Given the description of an element on the screen output the (x, y) to click on. 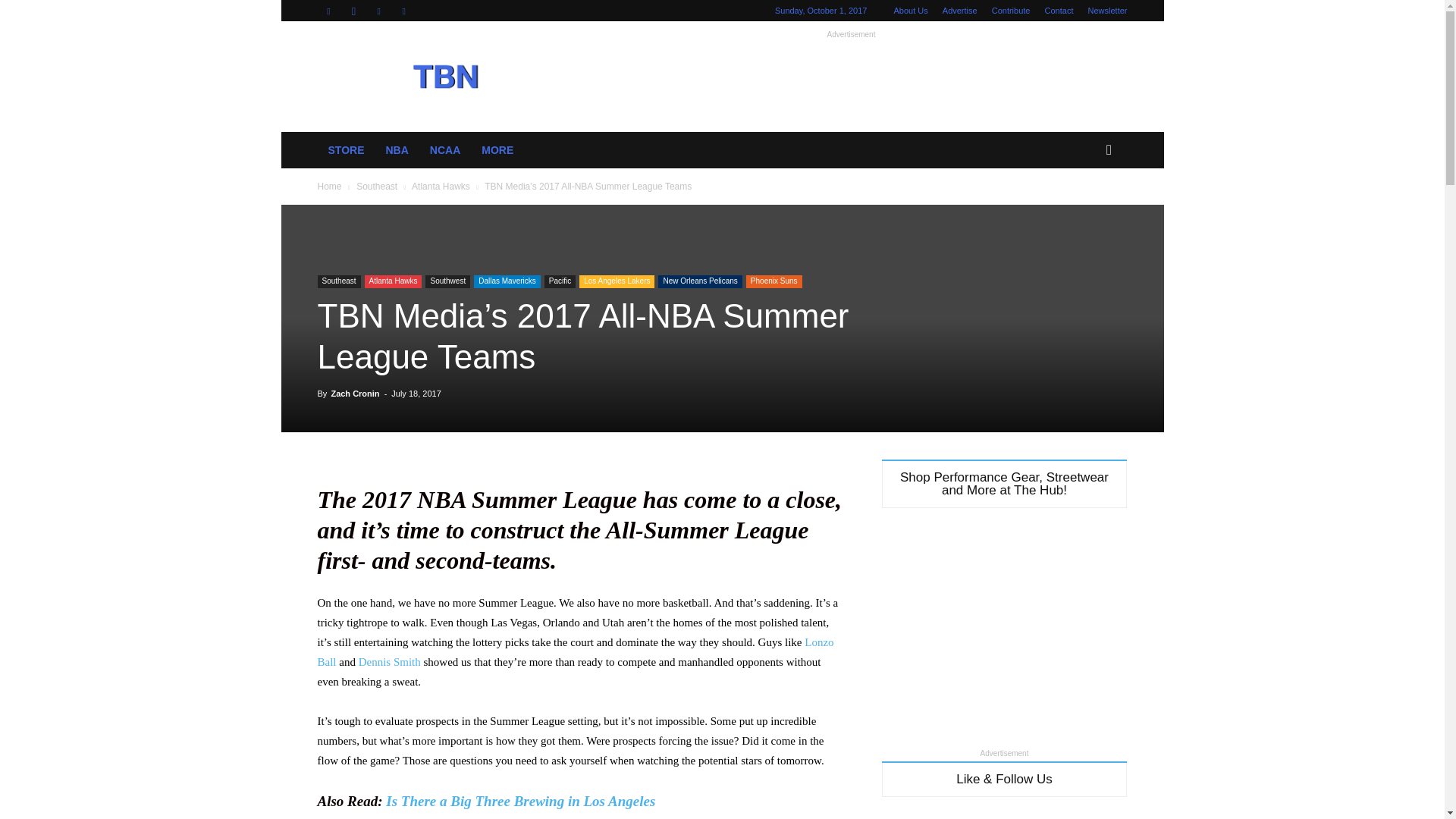
View all posts in Atlanta Hawks (441, 185)
Instagram (353, 10)
View all posts in Southeast (376, 185)
Youtube (403, 10)
Twitter (379, 10)
Facebook (328, 10)
